Given the description of an element on the screen output the (x, y) to click on. 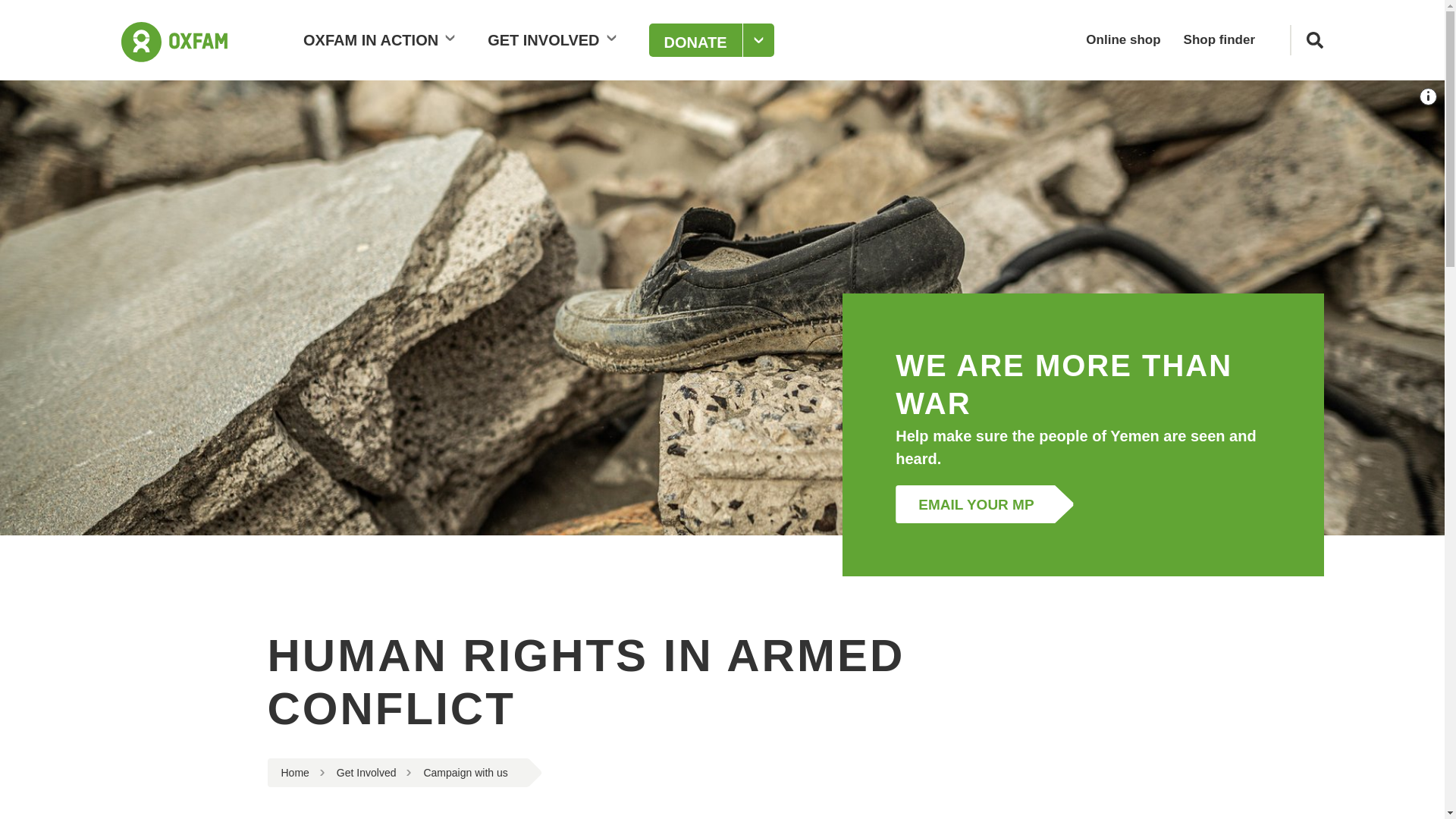
Get Involved (366, 772)
Home (294, 772)
GET INVOLVED (554, 39)
OXFAM IN ACTION (381, 39)
Campaign with us (464, 772)
